Given the description of an element on the screen output the (x, y) to click on. 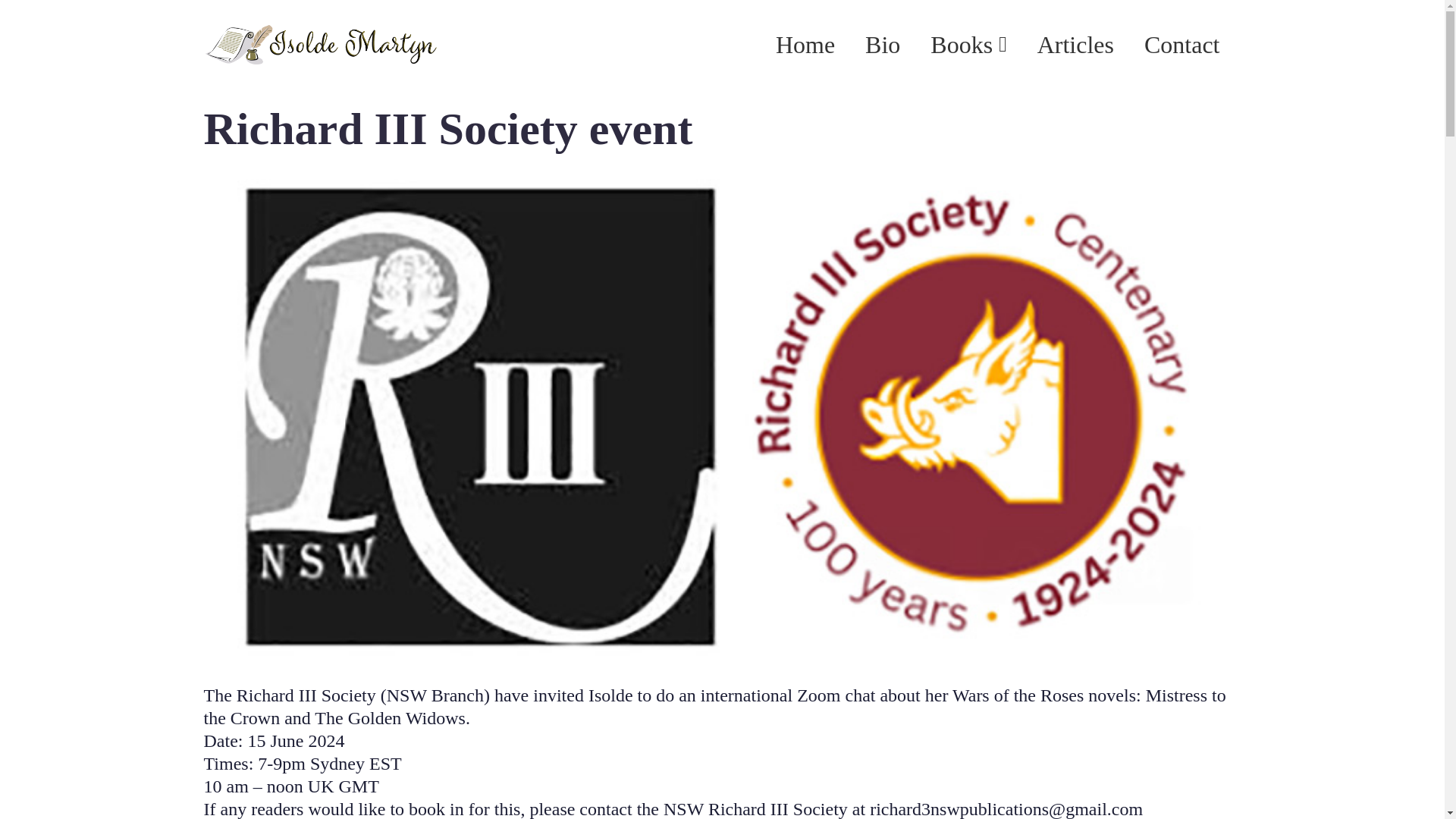
Richard III Society event (718, 417)
Bio (881, 44)
Books (968, 44)
Contact (1182, 44)
Richard III Society event (448, 128)
Home (805, 44)
Richard III Society event (448, 128)
Articles (1074, 44)
